Given the description of an element on the screen output the (x, y) to click on. 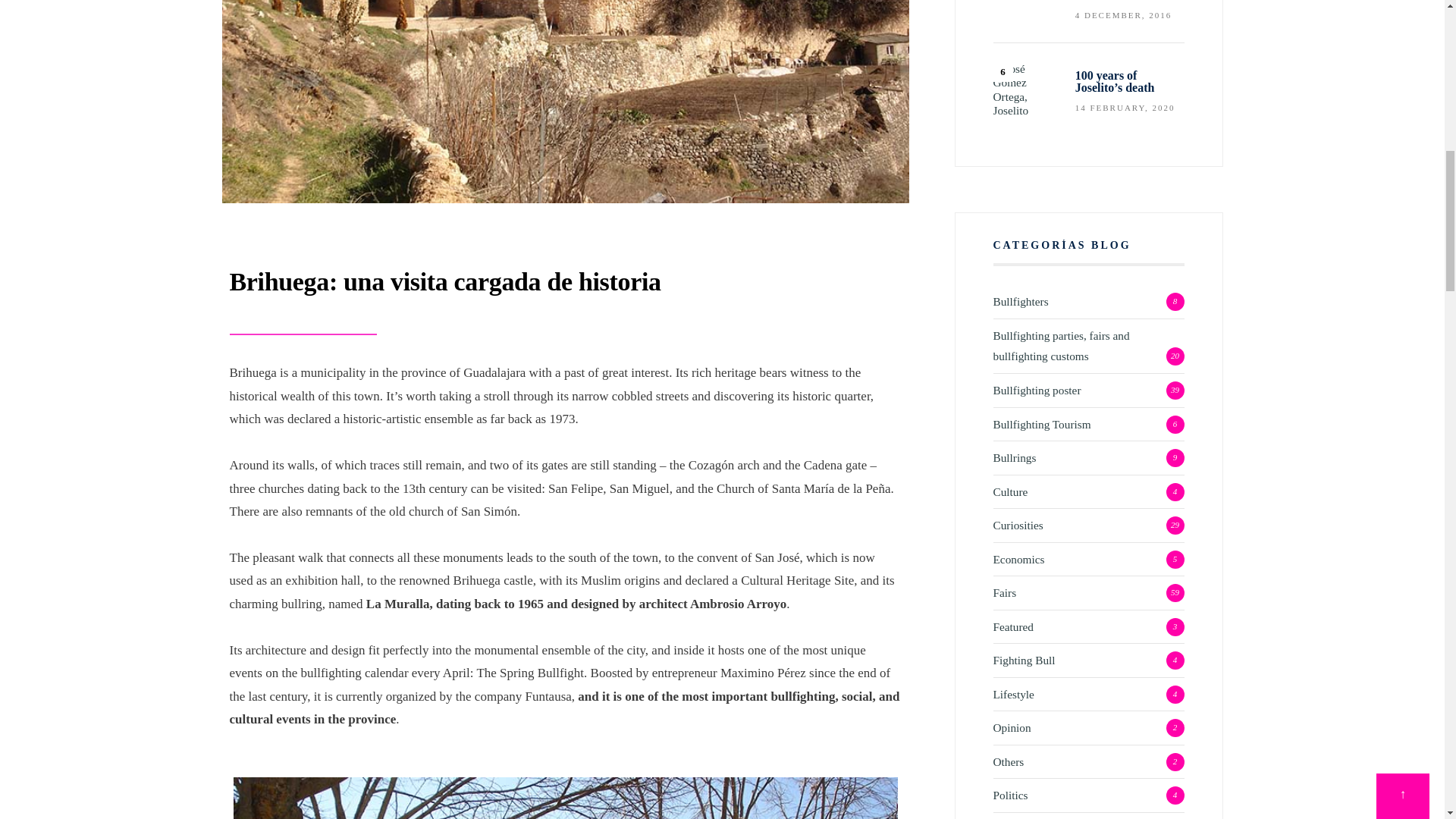
100 years of Joselito's death (1025, 89)
Anatomy of the bull. Morrillo (1025, 11)
